Given the description of an element on the screen output the (x, y) to click on. 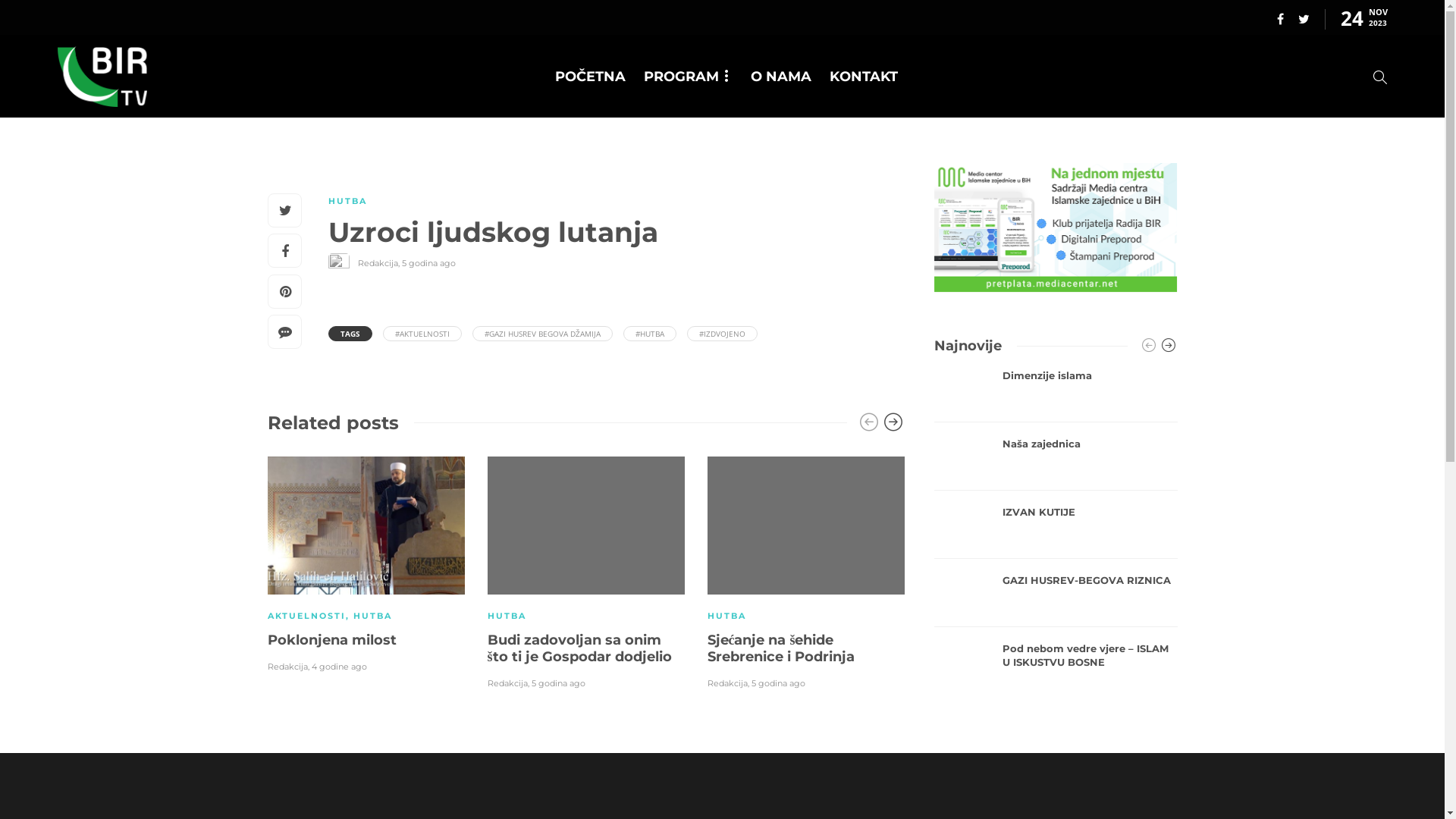
HUTBA Element type: text (372, 615)
PROGRAM Element type: text (687, 75)
Redakcija Element type: text (377, 262)
HUTBA Element type: text (725, 615)
TAGS Element type: text (349, 333)
#IZDVOJENO Element type: text (722, 333)
GAZI HUSREV-BEGOVA RIZNICA Element type: text (1089, 580)
Dimenzije islama Element type: text (1089, 375)
AKTUELNOSTI Element type: text (305, 615)
5 godina ago Element type: text (557, 682)
Redakcija Element type: text (726, 682)
Redakcija Element type: text (506, 682)
5 godina ago Element type: text (777, 682)
Redakcija Element type: text (286, 666)
HUTBA Element type: text (346, 200)
Poklonjena milost Element type: text (365, 639)
#HUTBA Element type: text (649, 333)
Uzroci ljudskog lutanja Element type: text (603, 235)
#AKTUELNOSTI Element type: text (421, 333)
KONTAKT Element type: text (863, 75)
HUTBA Element type: text (505, 615)
4 godine ago Element type: text (338, 666)
5 godina ago Element type: text (428, 262)
O NAMA Element type: text (780, 75)
IZVAN KUTIJE Element type: text (1089, 512)
